Given the description of an element on the screen output the (x, y) to click on. 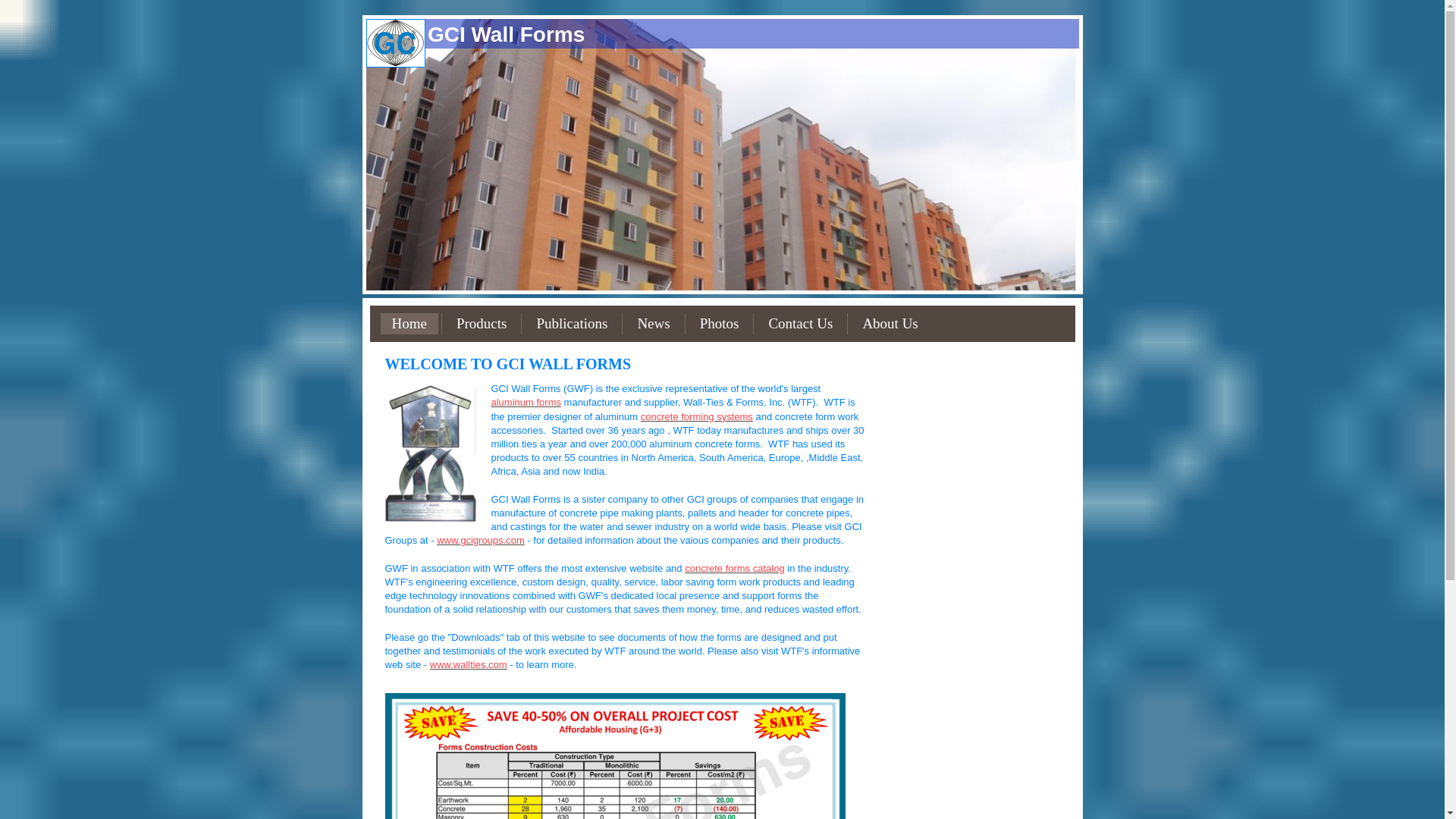
Publications (571, 323)
www.wallties.com (467, 664)
GCI Wall Forms (506, 33)
Photos (719, 323)
Home (409, 323)
aluminum forms (526, 401)
concrete forms catalog (734, 568)
www.gcigroups.com (480, 540)
concrete forming systems (696, 416)
Products (481, 323)
Contact Us (800, 323)
About Us (889, 323)
News (653, 323)
